Given the description of an element on the screen output the (x, y) to click on. 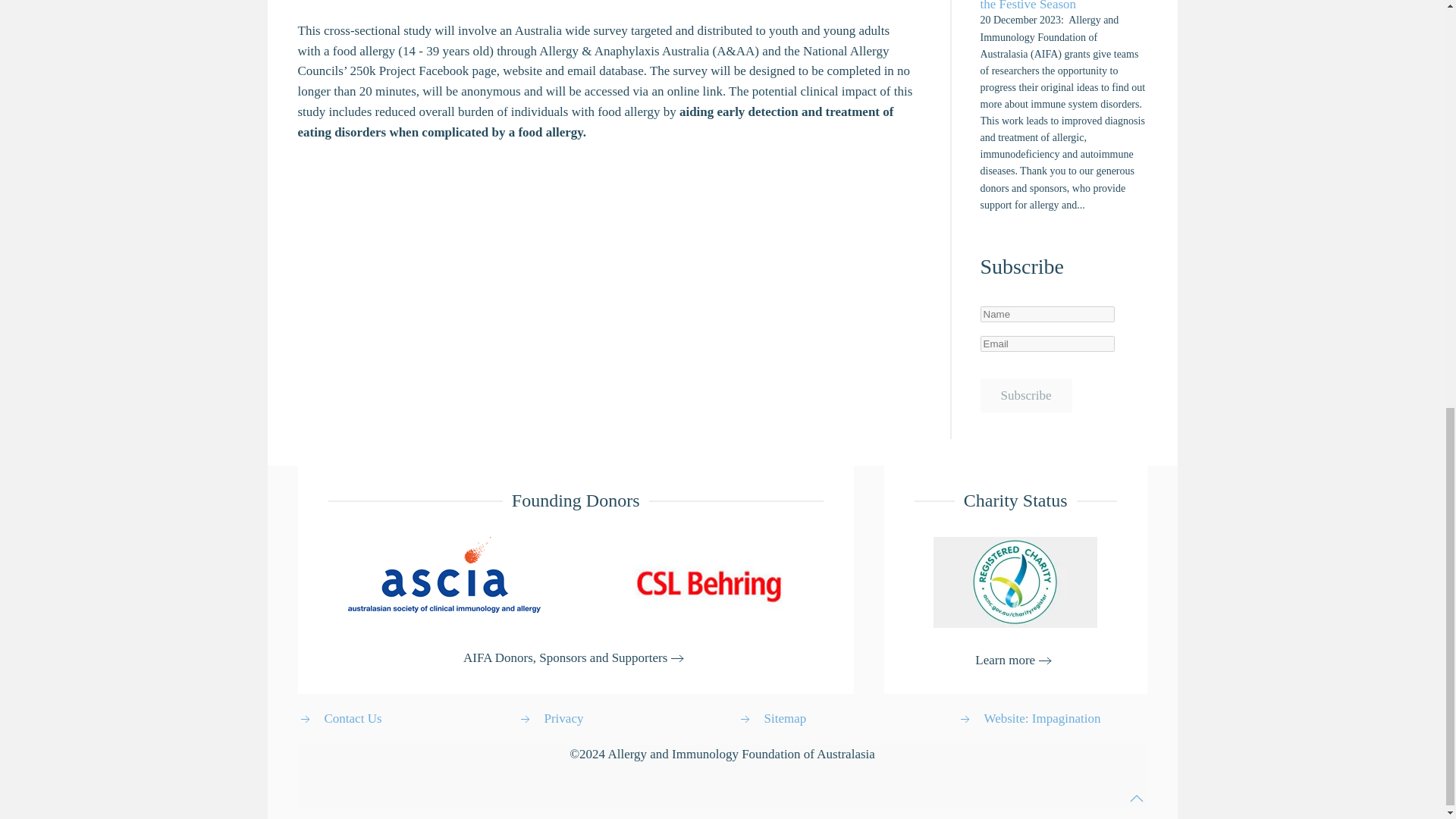
Back to Top (1136, 798)
Learn more (1015, 660)
Subscribe (1025, 395)
